Given the description of an element on the screen output the (x, y) to click on. 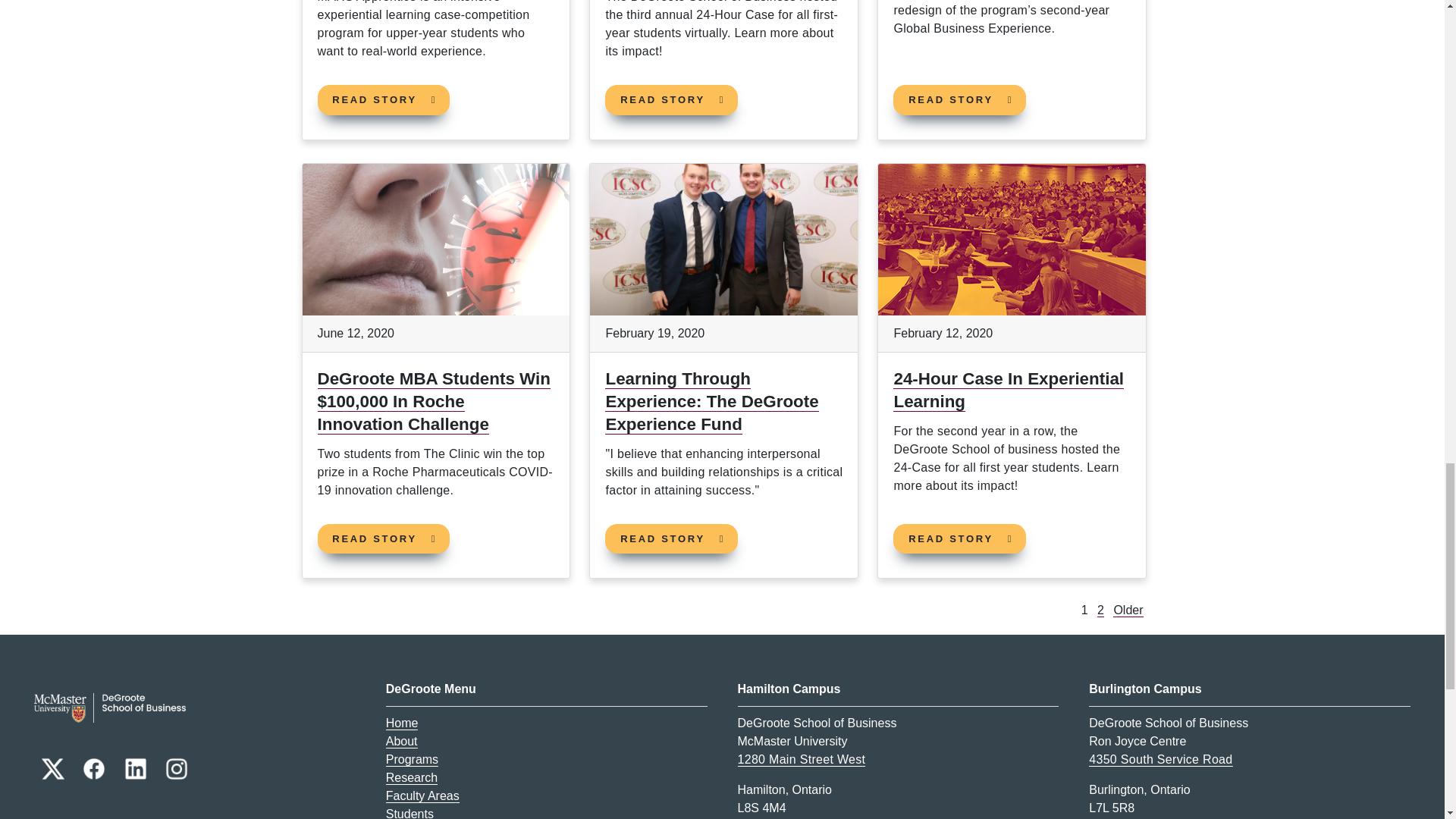
Google Map for the Ron Joyce Centre (1160, 759)
